Given the description of an element on the screen output the (x, y) to click on. 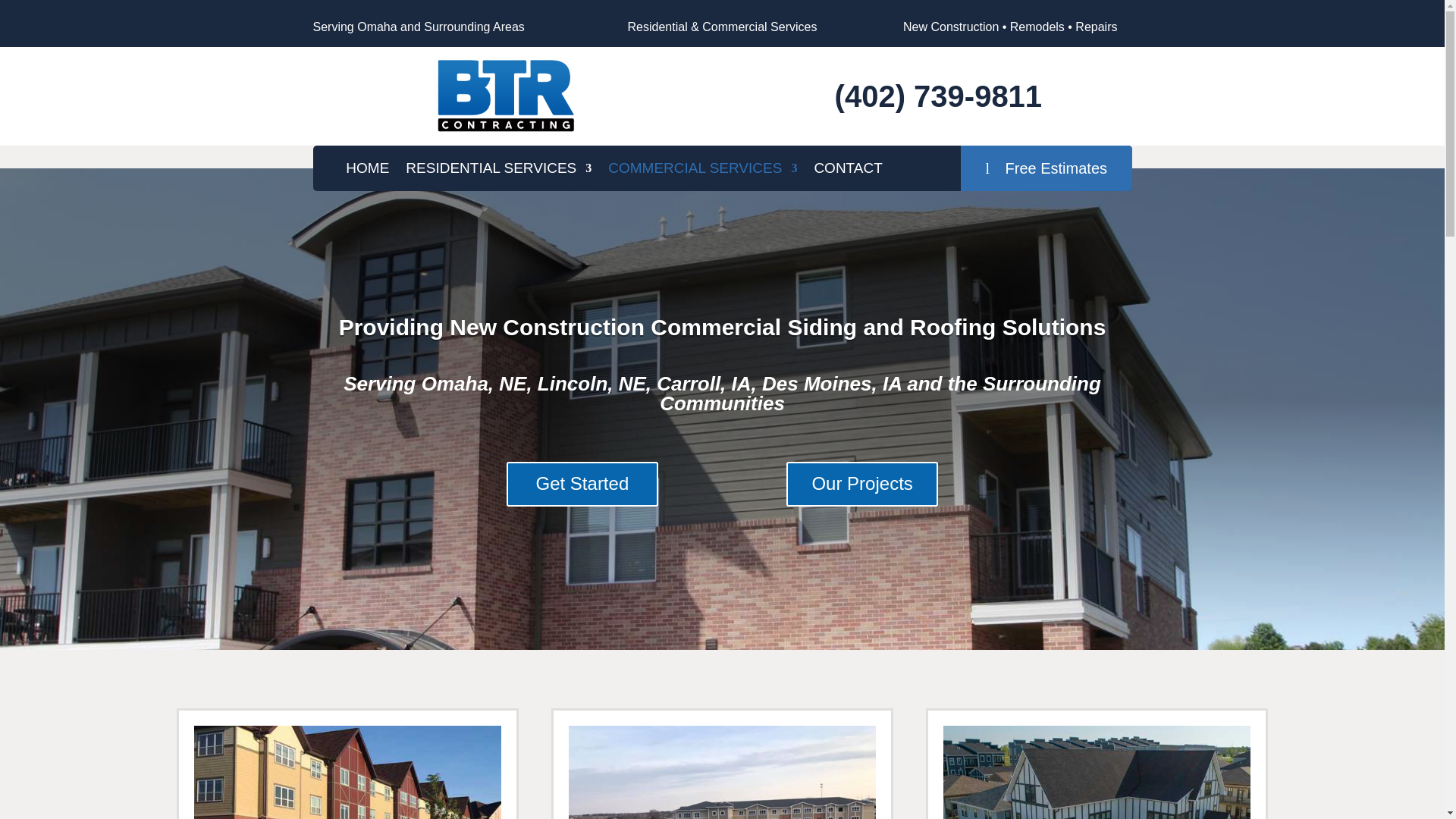
BTR Main I (505, 96)
Bunglows on the Lake 053020202 (1096, 772)
RESIDENTIAL SERVICES (498, 170)
Get Started (582, 483)
CONTACT (847, 170)
HOME (367, 170)
COMMERCIAL SERVICES (702, 170)
Free Estimates (1046, 167)
Our Projects (861, 483)
